Given the description of an element on the screen output the (x, y) to click on. 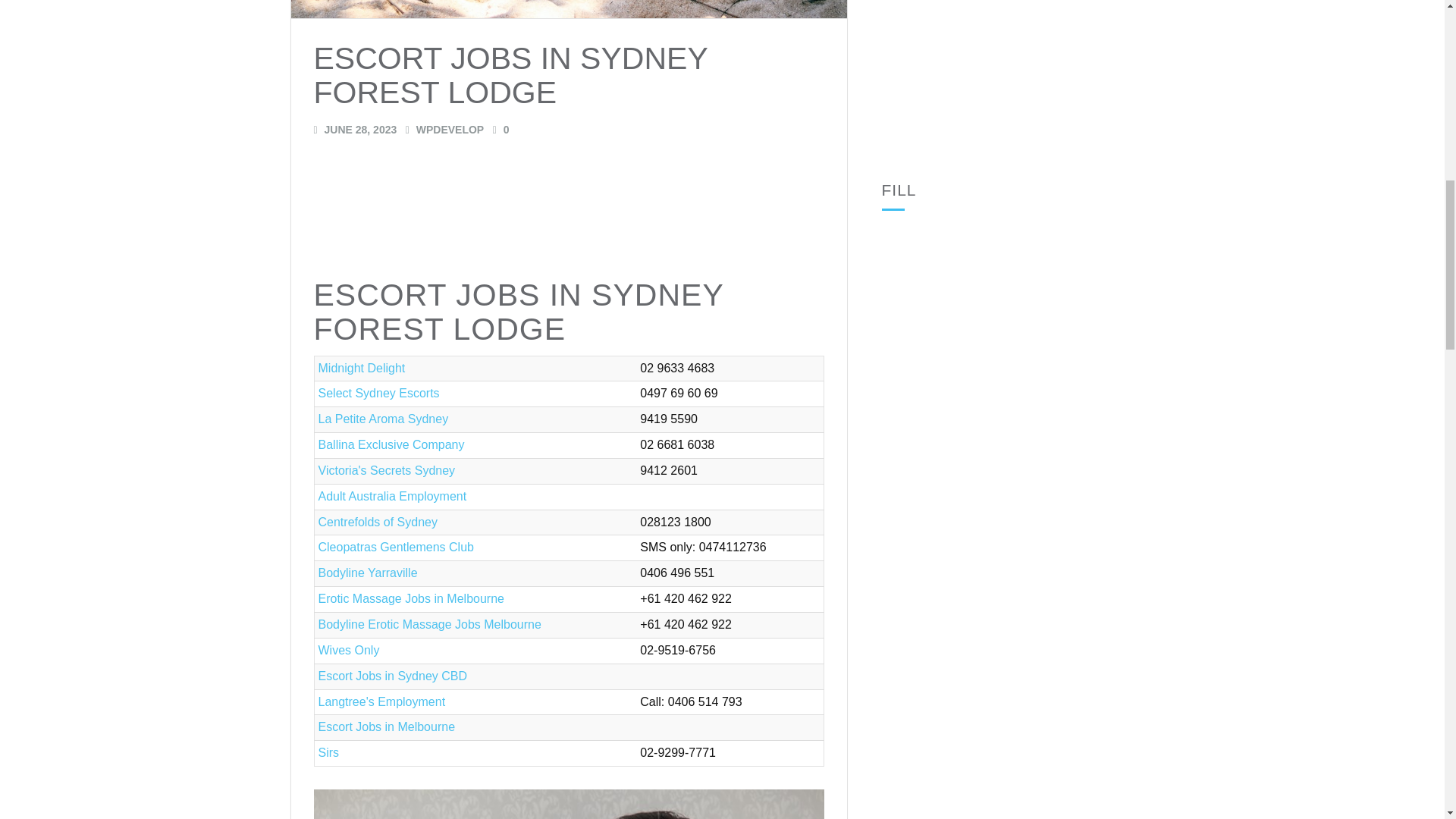
Ballina Exclusive Company (391, 444)
0 (501, 129)
WPDEVELOP (444, 129)
Victoria's Secrets Sydney (386, 470)
Select Sydney Escorts (378, 392)
JUNE 28, 2023 (355, 129)
Centrefolds of Sydney (378, 521)
Midnight Delight (362, 367)
La Petite Aroma Sydney (383, 418)
Adult Australia Employment (392, 495)
